Given the description of an element on the screen output the (x, y) to click on. 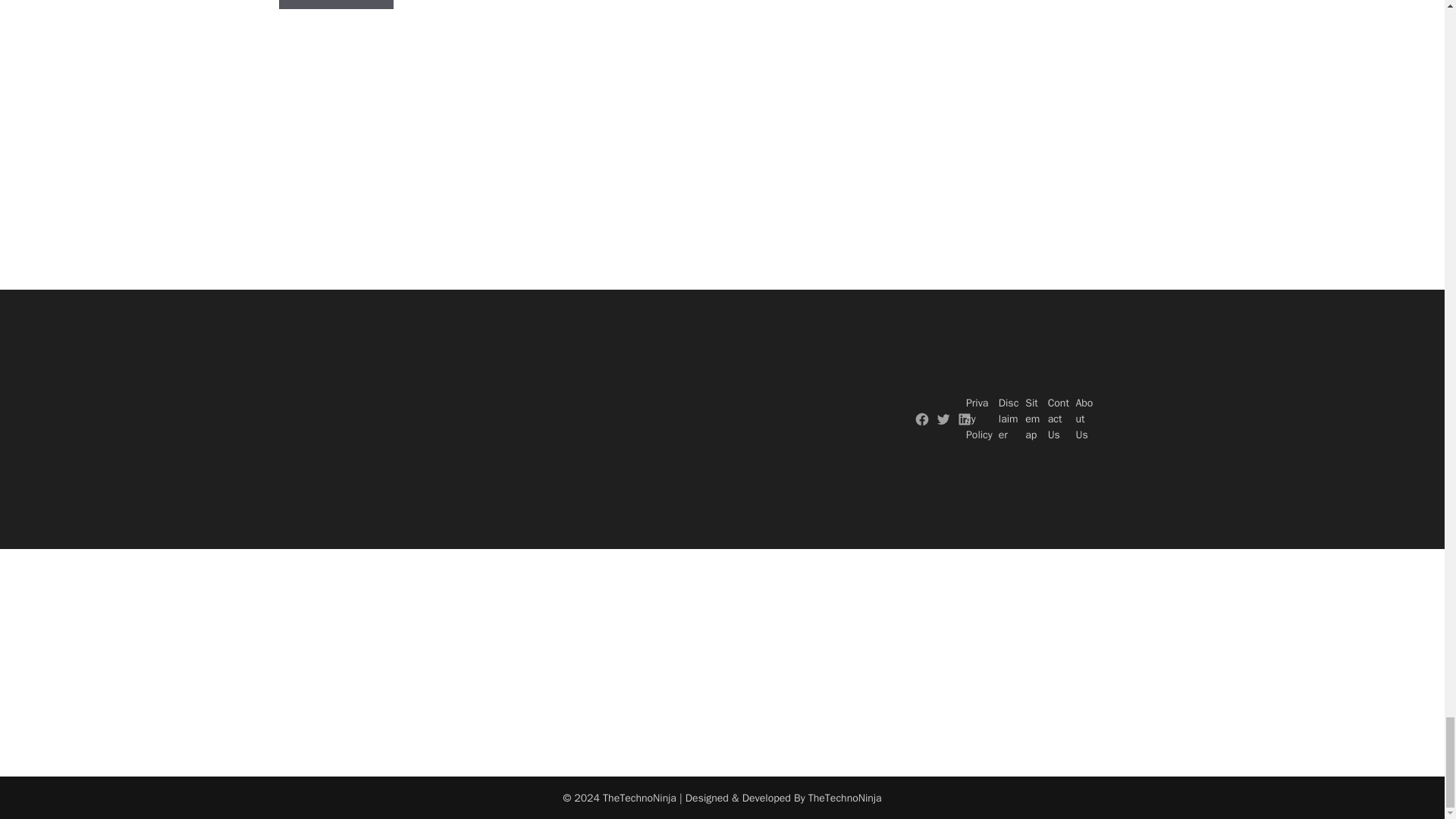
Post Comment (336, 4)
